Given the description of an element on the screen output the (x, y) to click on. 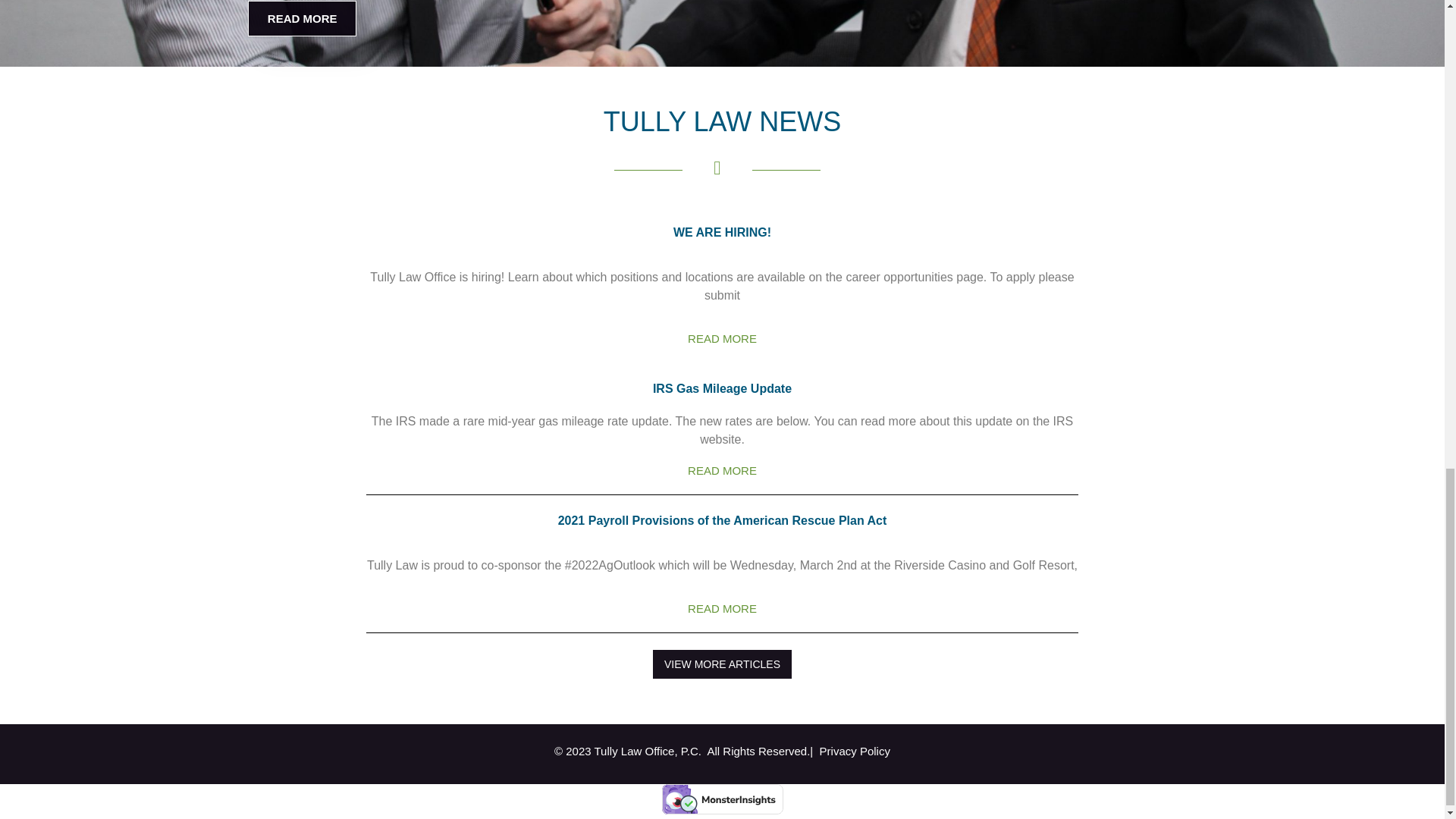
Verified by MonsterInsights (722, 798)
READ MORE (722, 337)
READ MORE (722, 470)
READ MORE (722, 608)
READ MORE (301, 18)
VIEW MORE ARTICLES (722, 664)
